Given the description of an element on the screen output the (x, y) to click on. 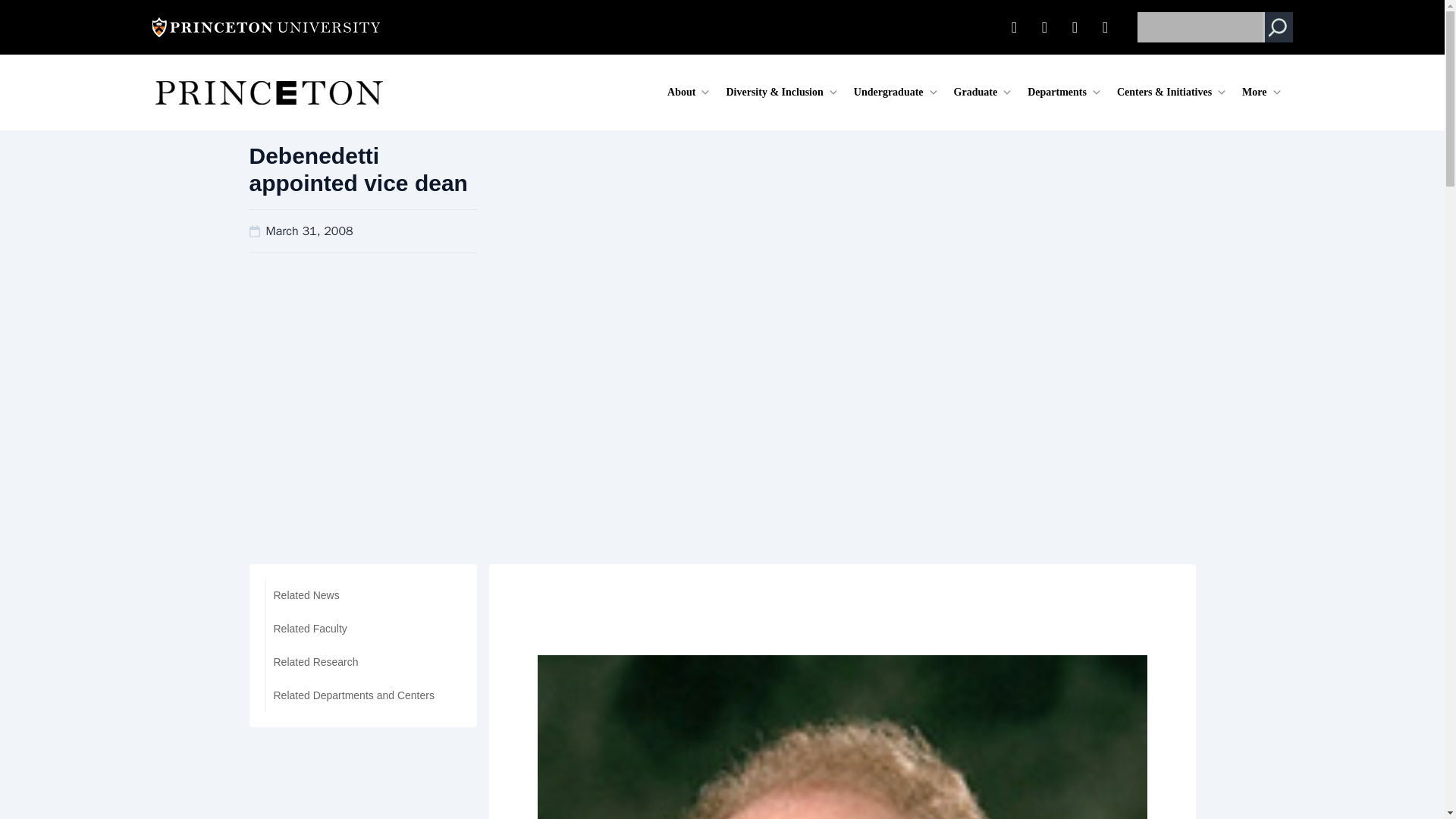
Twitter (1044, 27)
Graduate (983, 92)
LinkedIn (1013, 27)
Undergraduate (895, 92)
Princeton University (264, 26)
Instagram (1105, 27)
Pablo Debenedetti (842, 737)
Facebook (1074, 27)
